Given the description of an element on the screen output the (x, y) to click on. 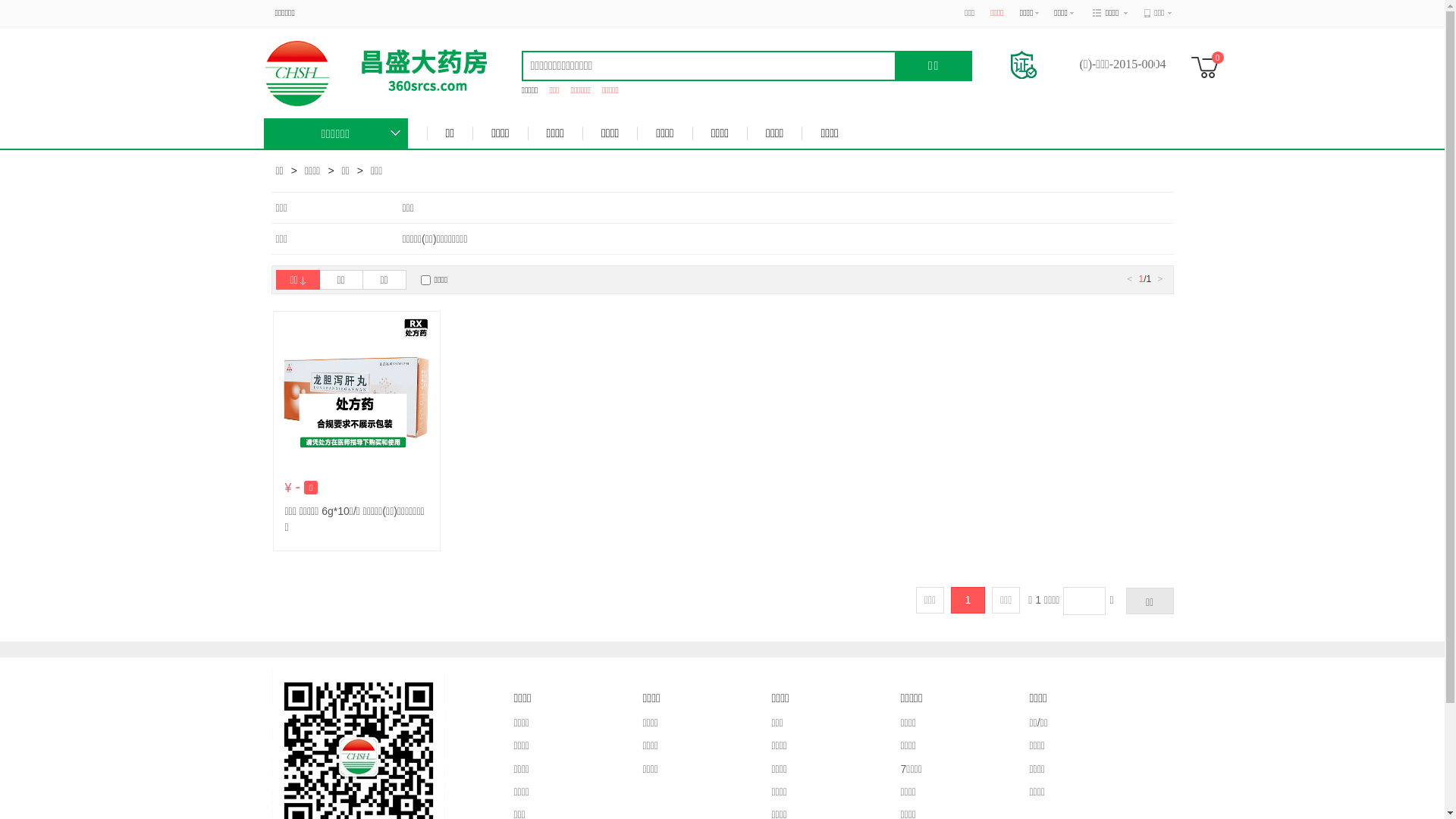
< Element type: text (1129, 278)
on Element type: text (424, 280)
0 Element type: text (1209, 67)
> Element type: text (1159, 278)
